Given the description of an element on the screen output the (x, y) to click on. 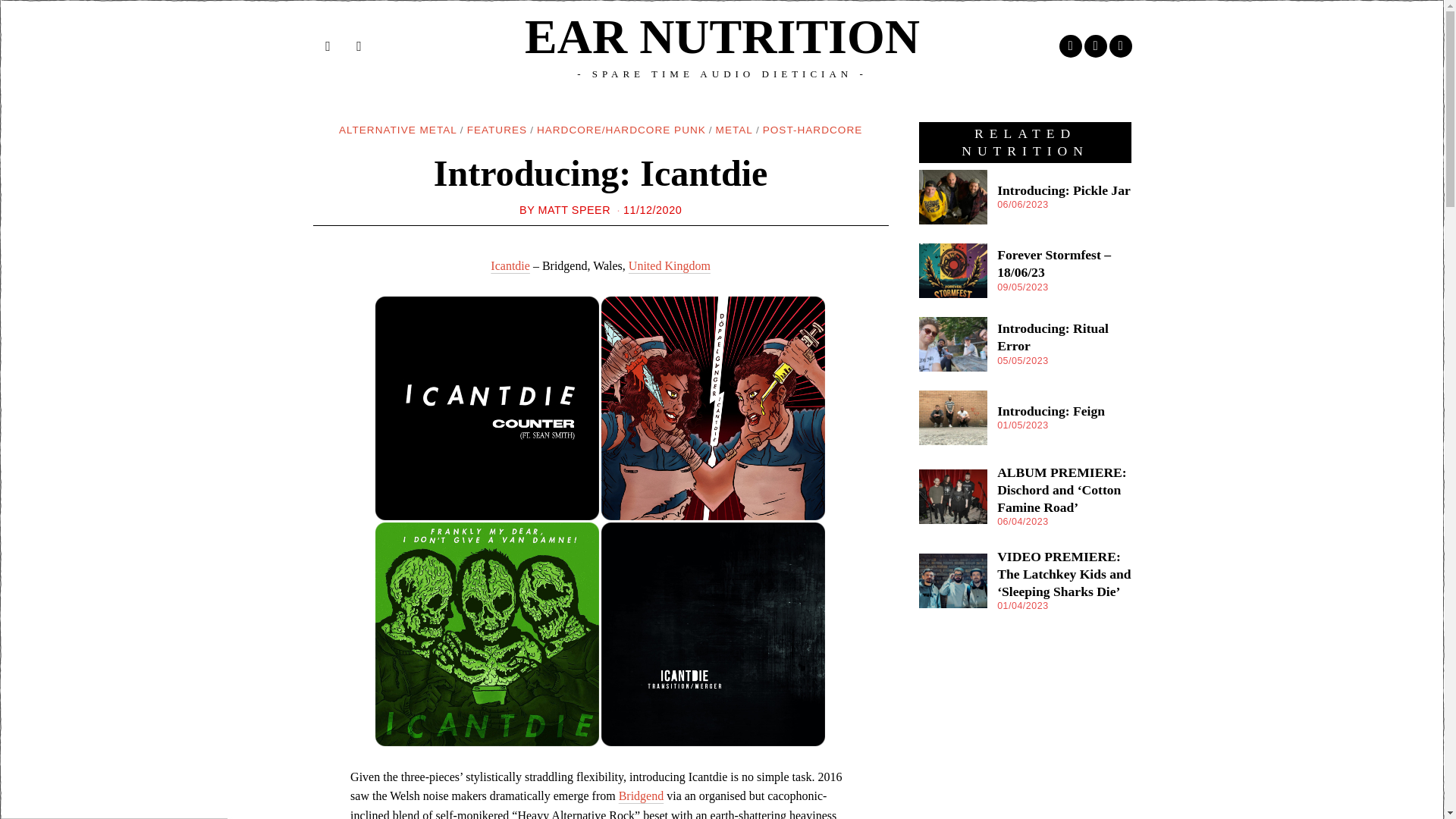
EAR NUTRITION (722, 36)
Instagram (1095, 46)
POST-HARDCORE (812, 130)
Icantdie (509, 265)
Spotify (1119, 46)
ALTERNATIVE METAL (398, 130)
FEATURES (497, 130)
MATT SPEER (573, 209)
Bridgend (640, 795)
United Kingdom (669, 265)
